Given the description of an element on the screen output the (x, y) to click on. 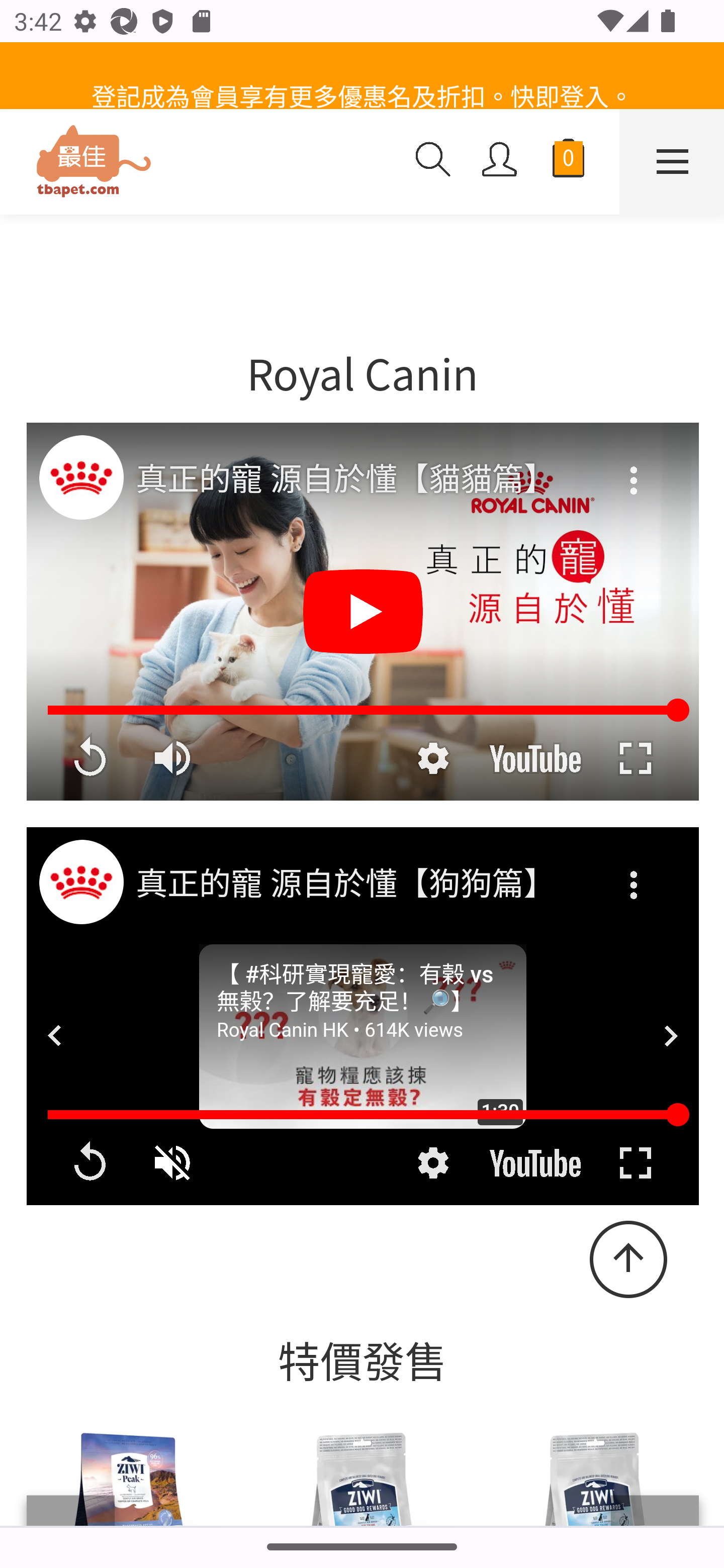
450x (200, 162)
sign_in (499, 161)
0 (567, 161)
Replay (89, 1162)
Unmute (173, 1162)
Settings (432, 1162)
Watch on YouTube (534, 1162)
Full screen (635, 1162)
